Given the description of an element on the screen output the (x, y) to click on. 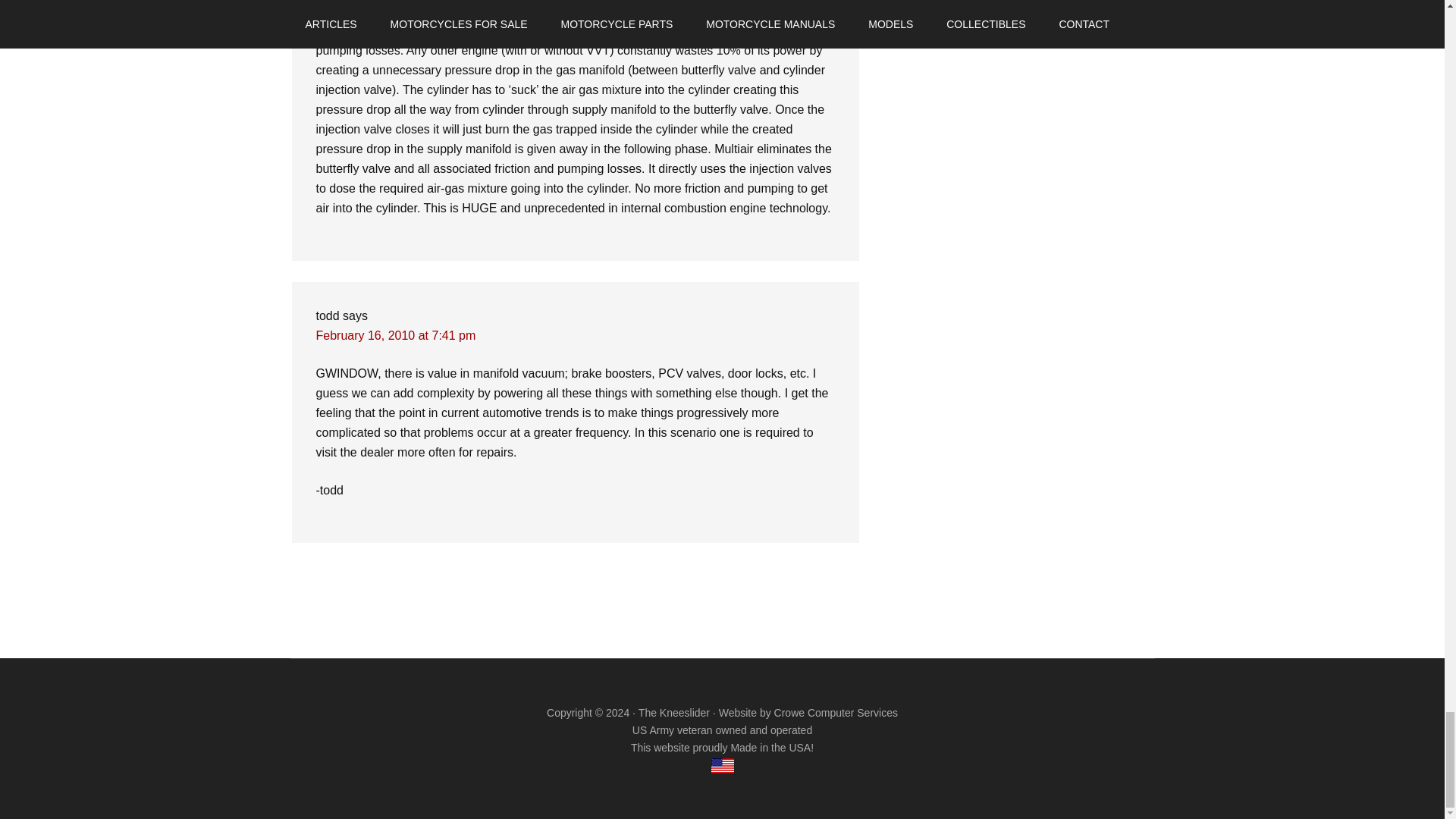
February 16, 2010 at 7:41 pm (395, 335)
Made in the USA (722, 765)
